Given the description of an element on the screen output the (x, y) to click on. 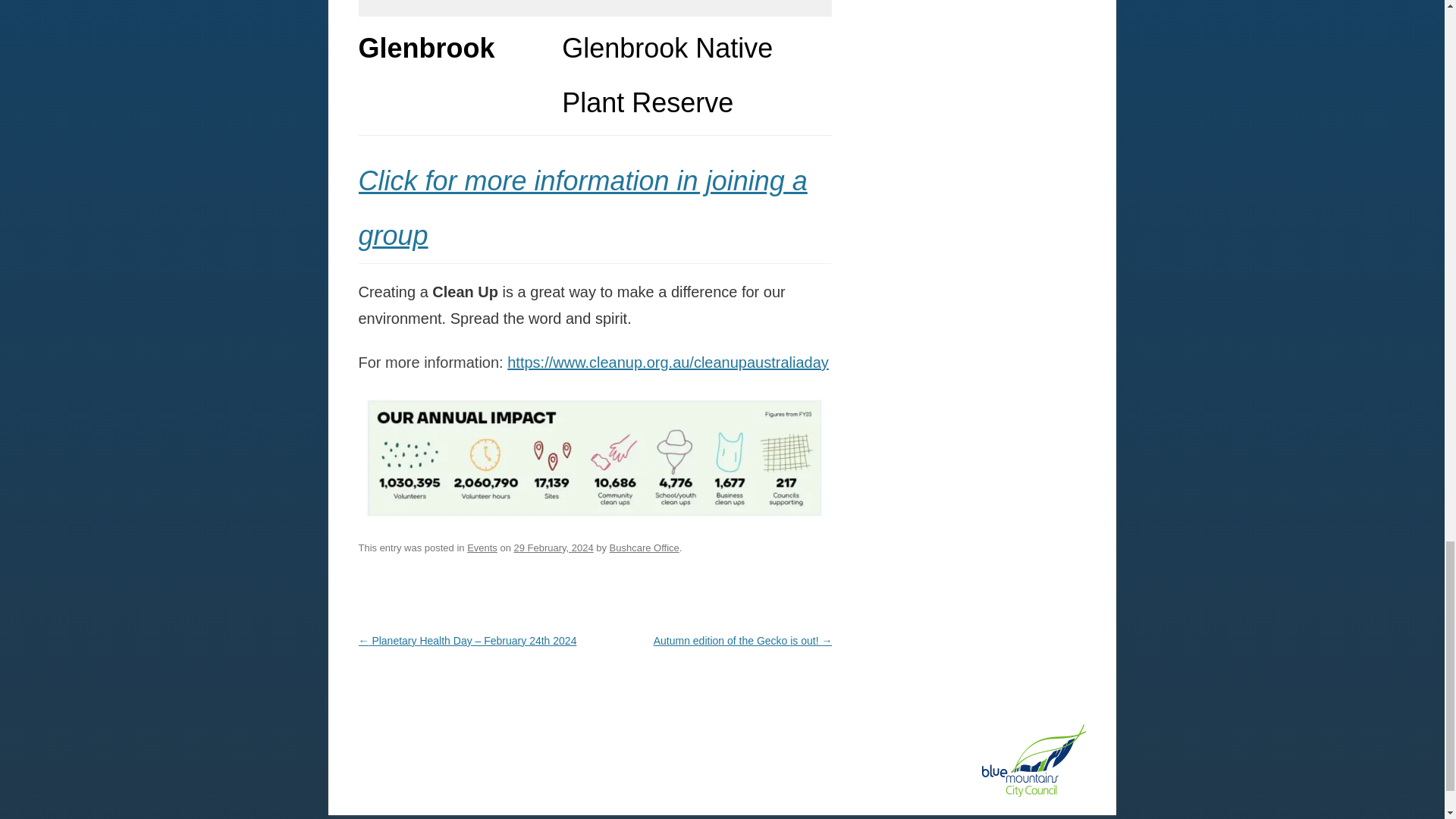
12:56 pm (553, 547)
View all posts by Bushcare Office (644, 547)
Click for more information in joining a group (582, 207)
29 February, 2024 (553, 547)
Events (482, 547)
Bushcare Office (644, 547)
